Given the description of an element on the screen output the (x, y) to click on. 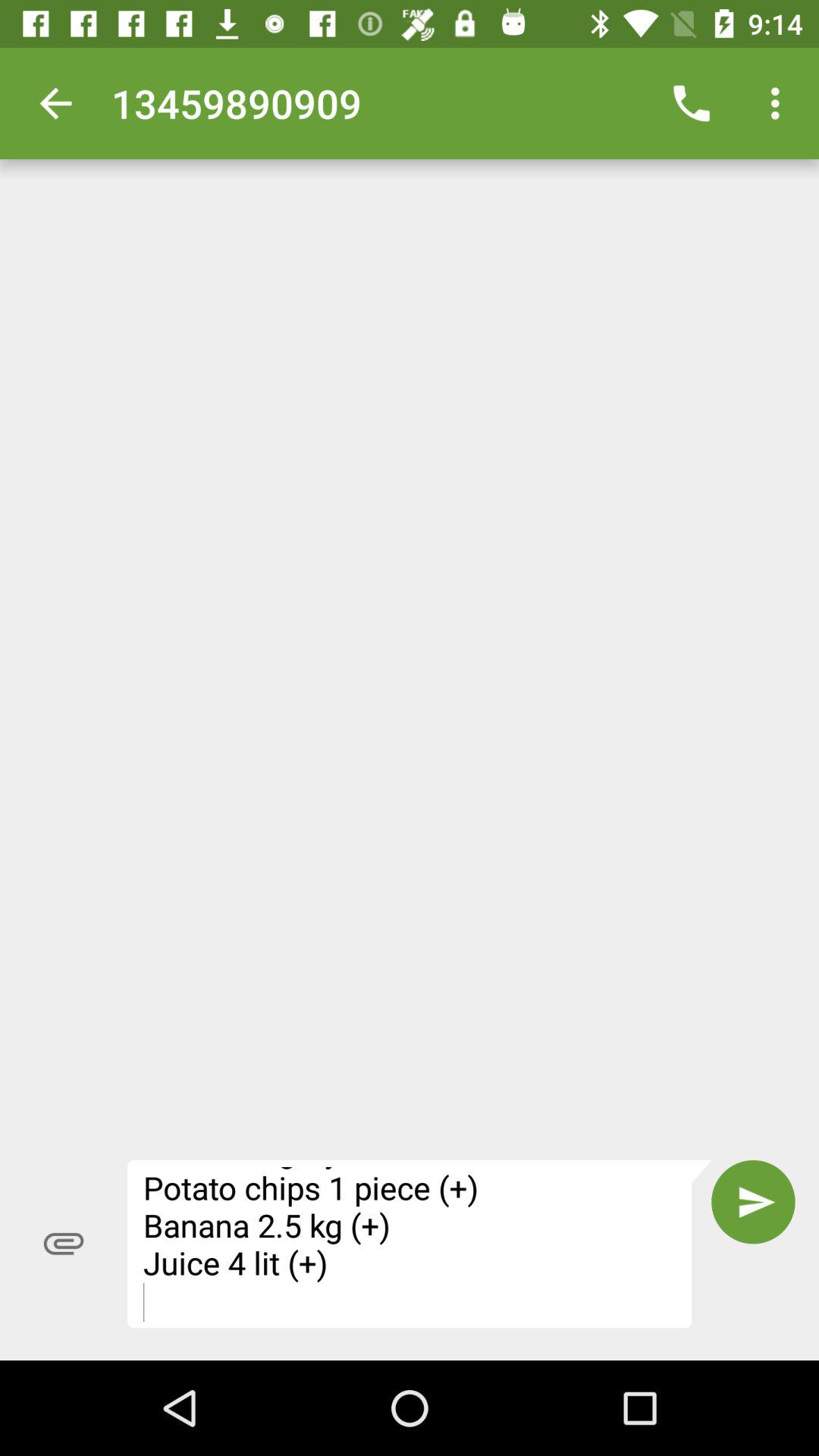
click icon to the left of the 13459890909 item (55, 103)
